Given the description of an element on the screen output the (x, y) to click on. 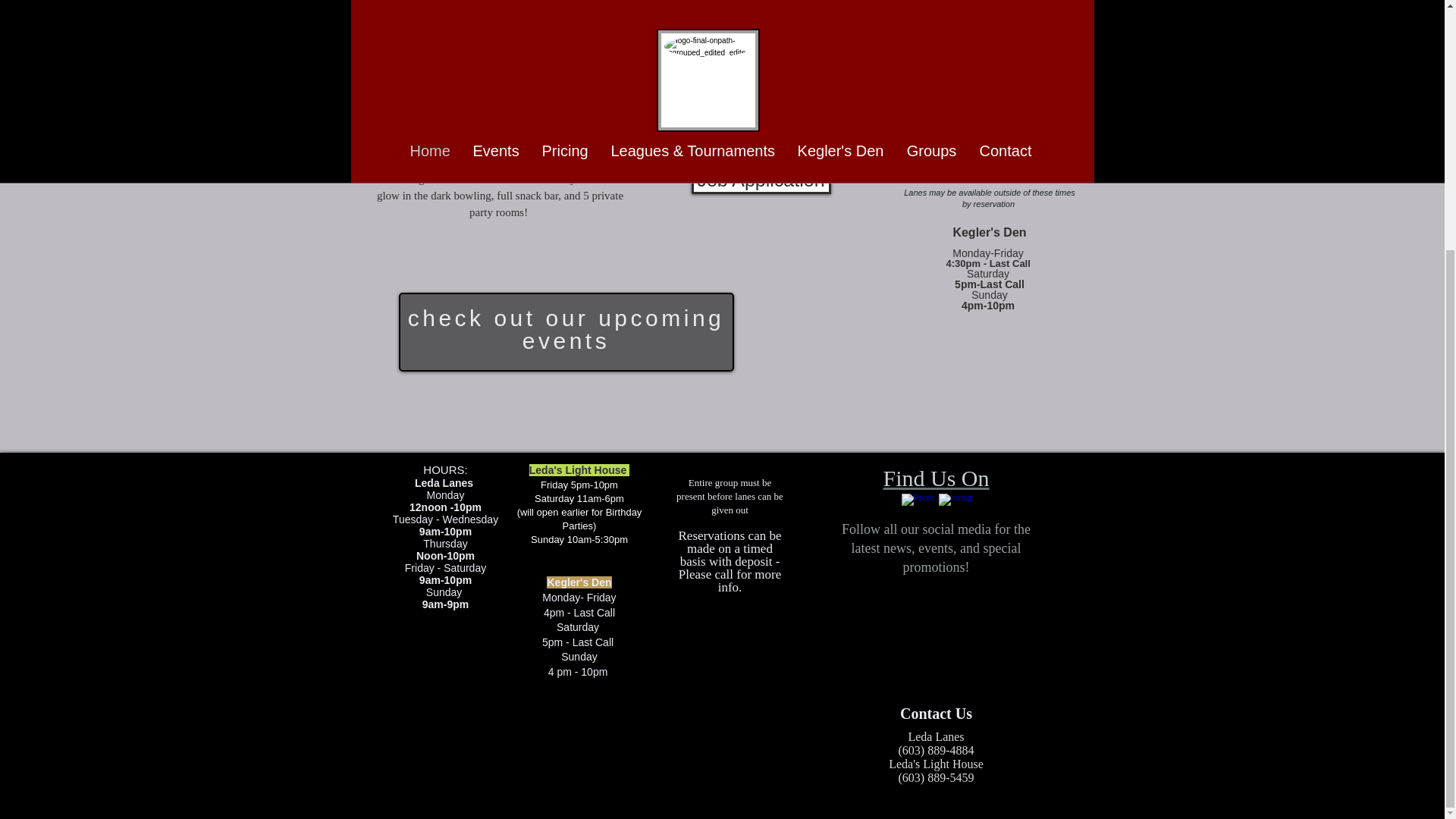
Job Application (761, 180)
check out our upcoming events (566, 328)
